Given the description of an element on the screen output the (x, y) to click on. 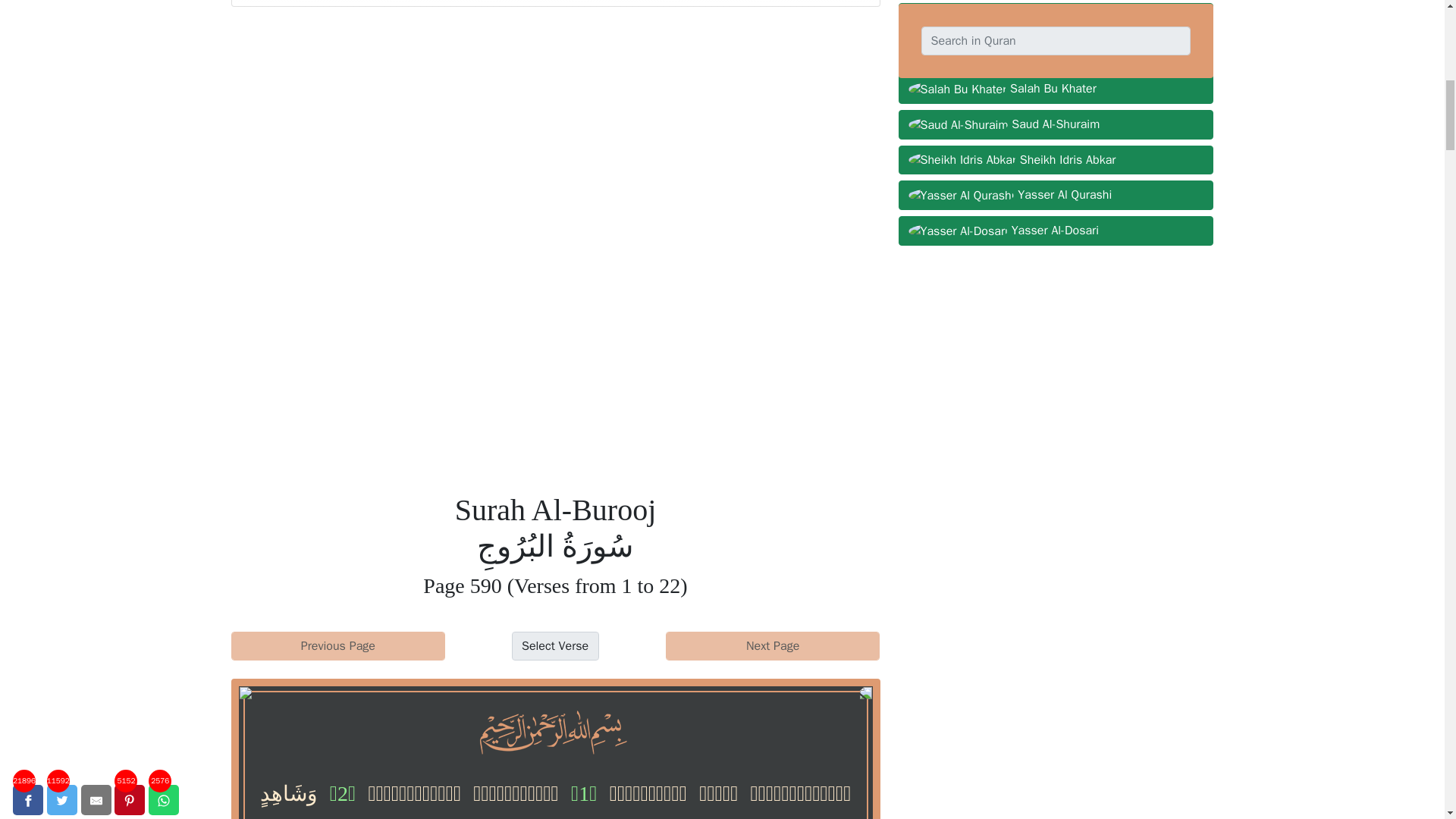
Next Page (772, 645)
Tafsir of Verse 2 (342, 793)
Tafsir of Verse 1 (583, 793)
Previous Page (337, 645)
